Given the description of an element on the screen output the (x, y) to click on. 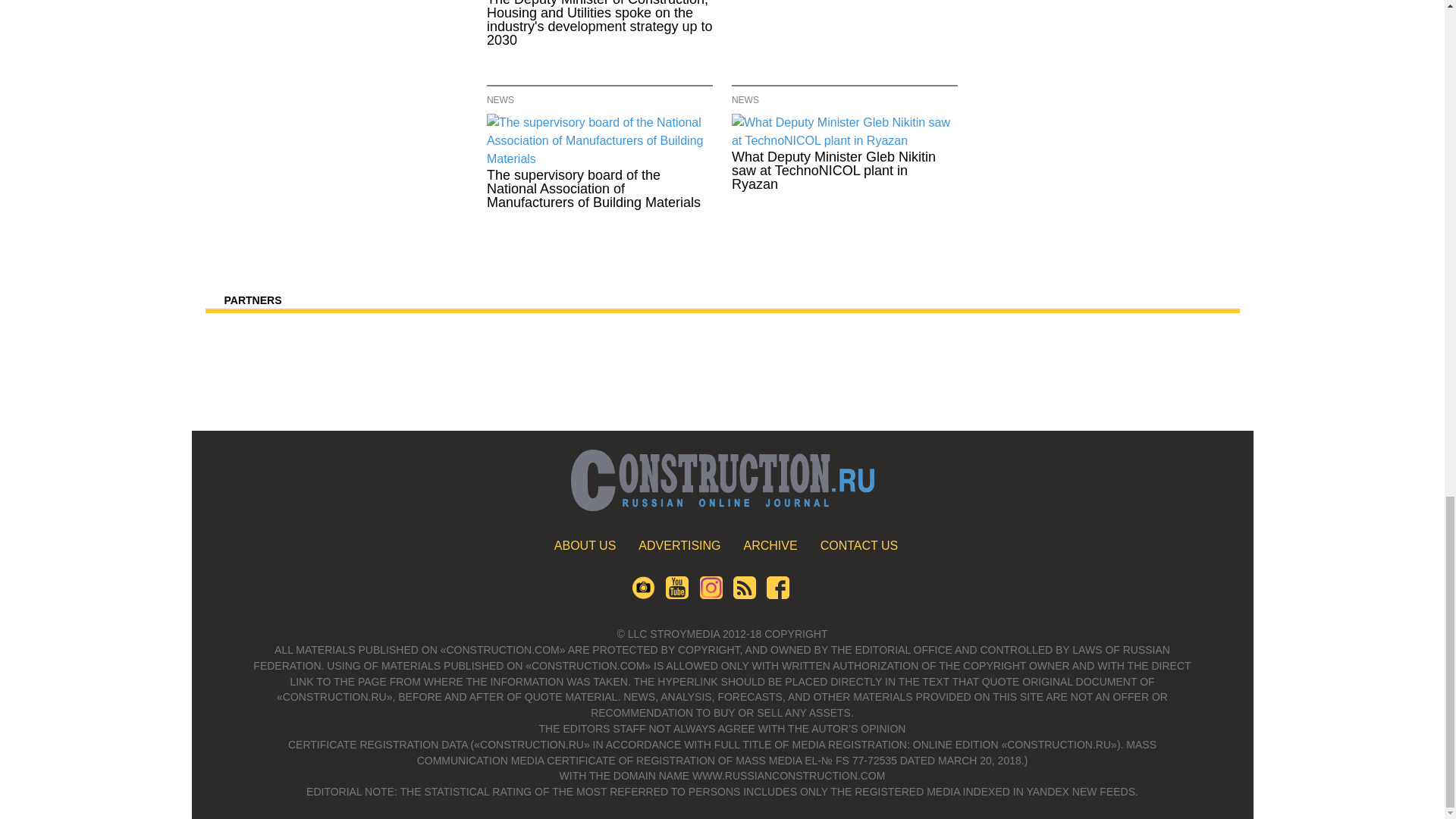
Photobank (643, 594)
Instagram (710, 594)
Facebook (778, 594)
YouTube (676, 594)
